Given the description of an element on the screen output the (x, y) to click on. 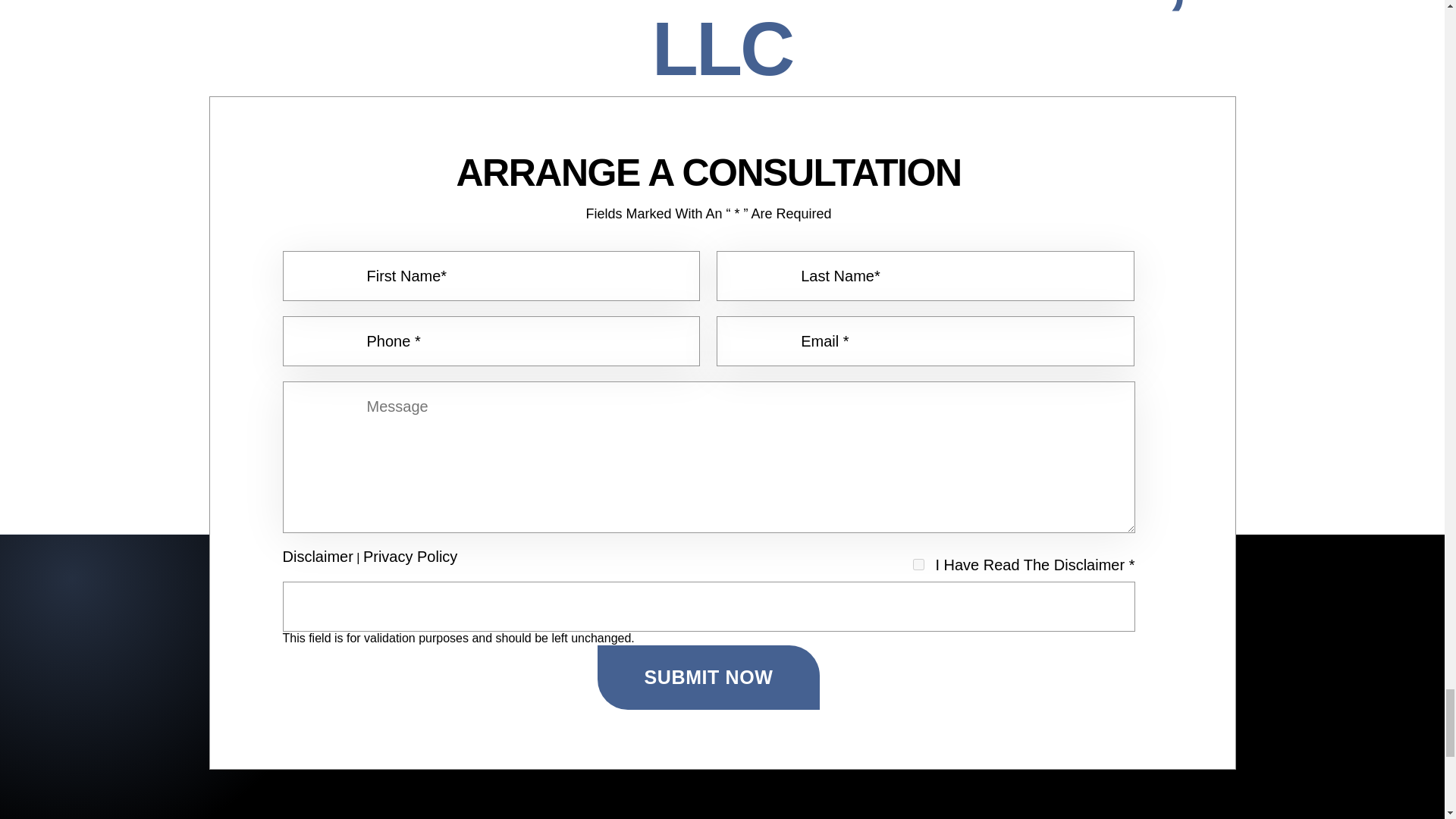
Submit Now (708, 676)
